Given the description of an element on the screen output the (x, y) to click on. 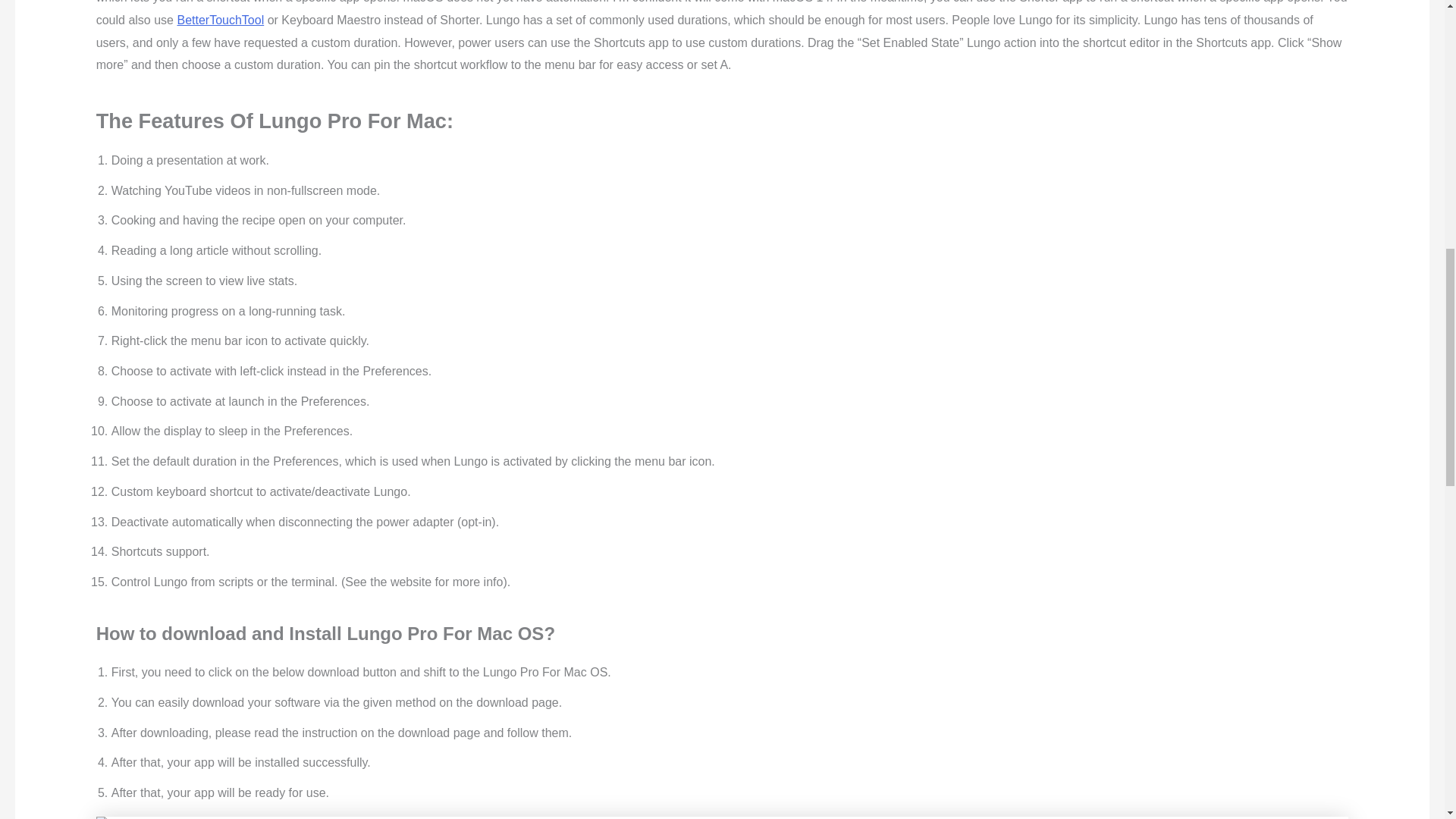
BetterTouchTool (219, 19)
